Given the description of an element on the screen output the (x, y) to click on. 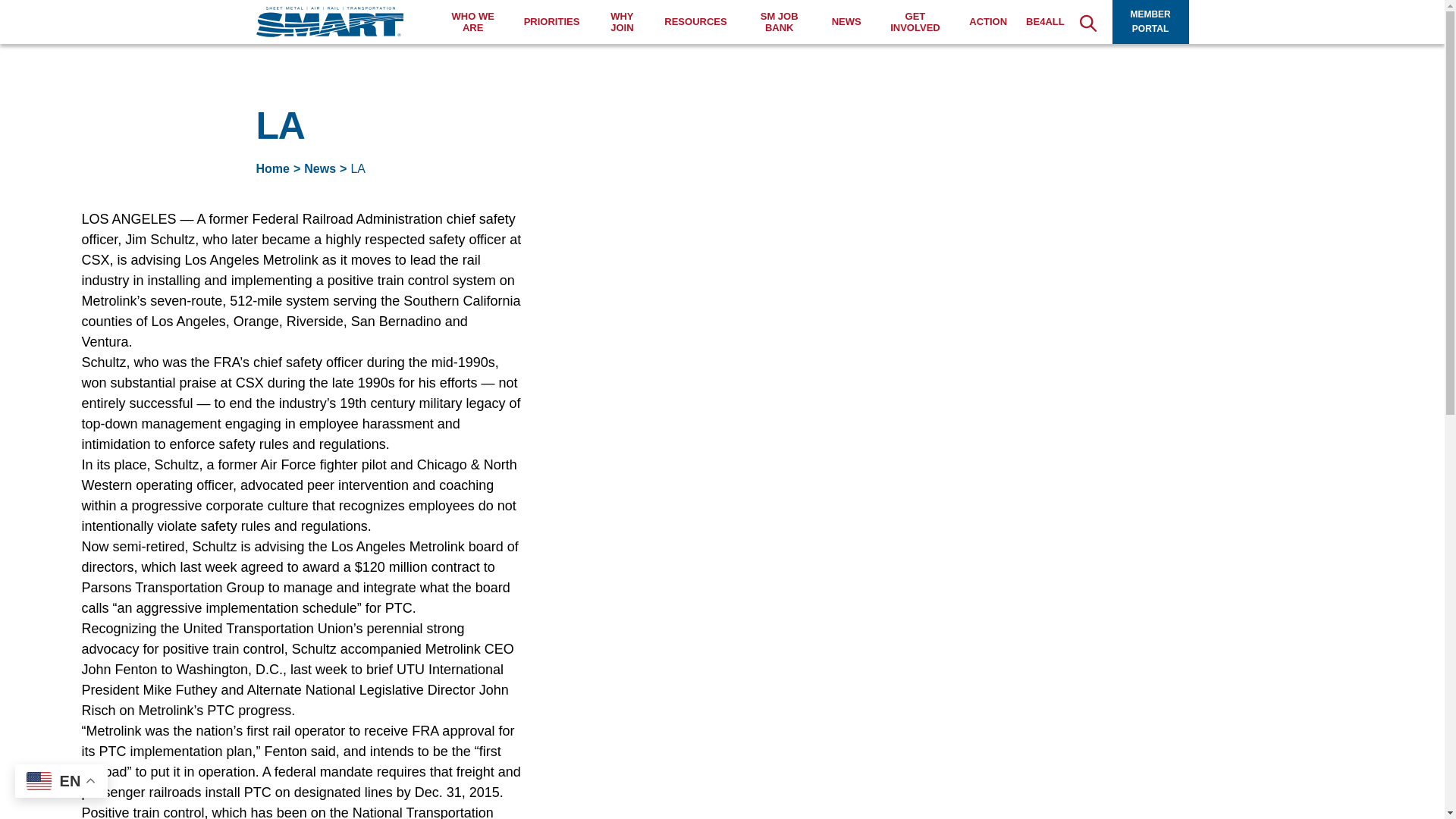
WHY JOIN (621, 22)
WHO WE ARE (473, 22)
Go to News. (320, 168)
PRIORITIES (551, 21)
Go to SMART Union. (272, 168)
